Given the description of an element on the screen output the (x, y) to click on. 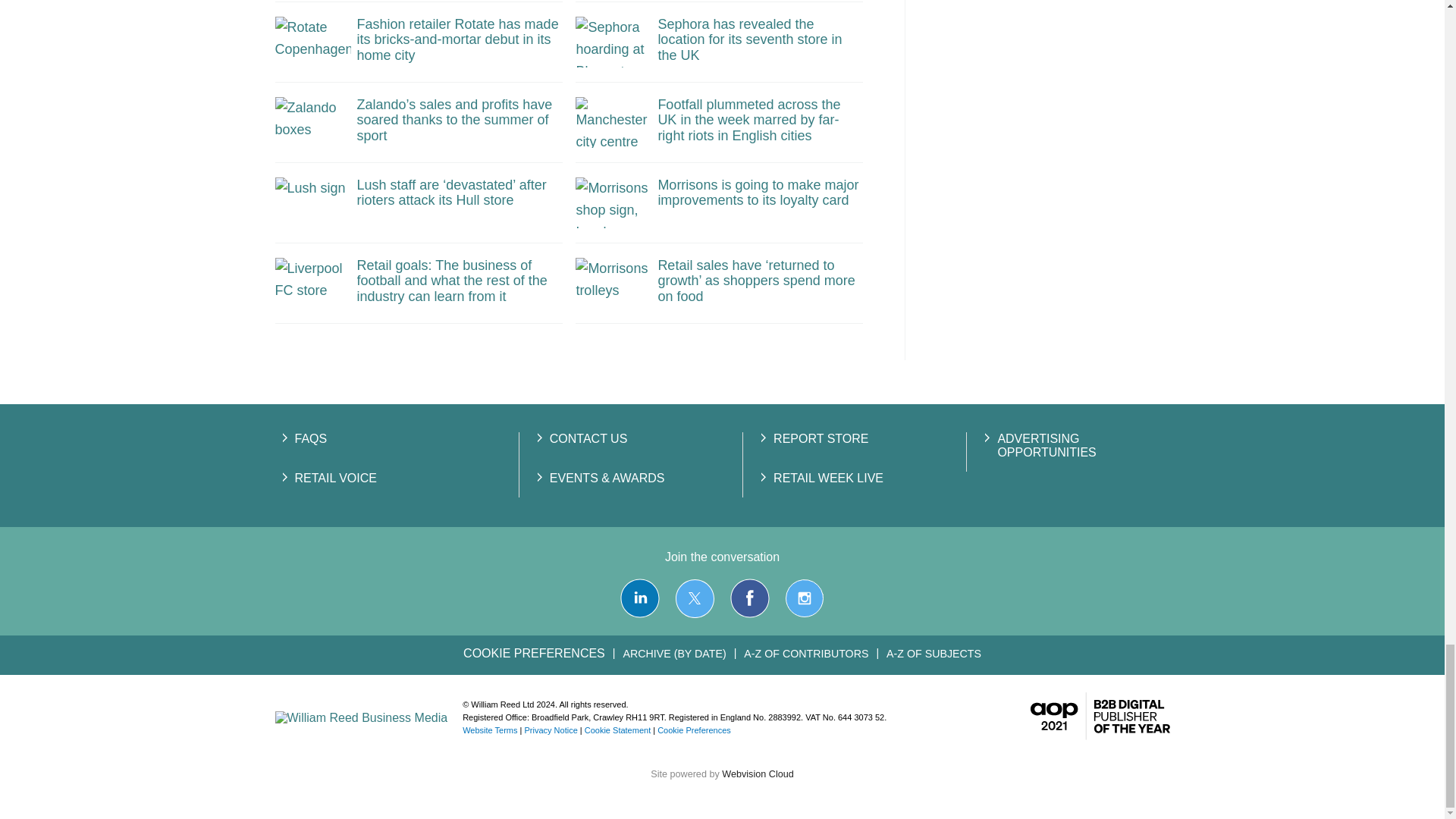
Connect with us on Facebook (750, 598)
Connect with us on X (694, 598)
Connect with us on Instagram (804, 598)
Connect with us on LinkedIn (639, 598)
